Given the description of an element on the screen output the (x, y) to click on. 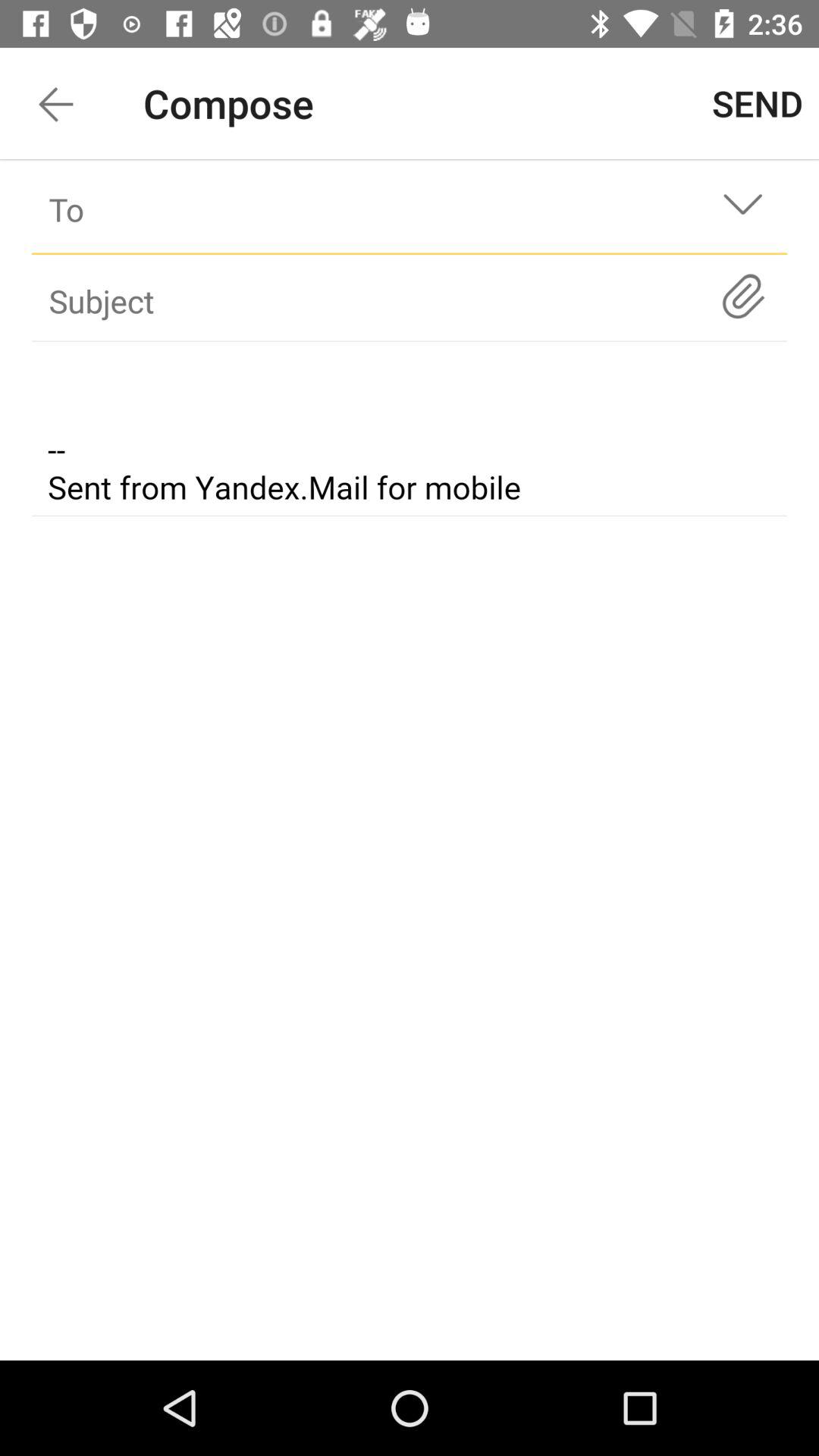
subject option (382, 300)
